Given the description of an element on the screen output the (x, y) to click on. 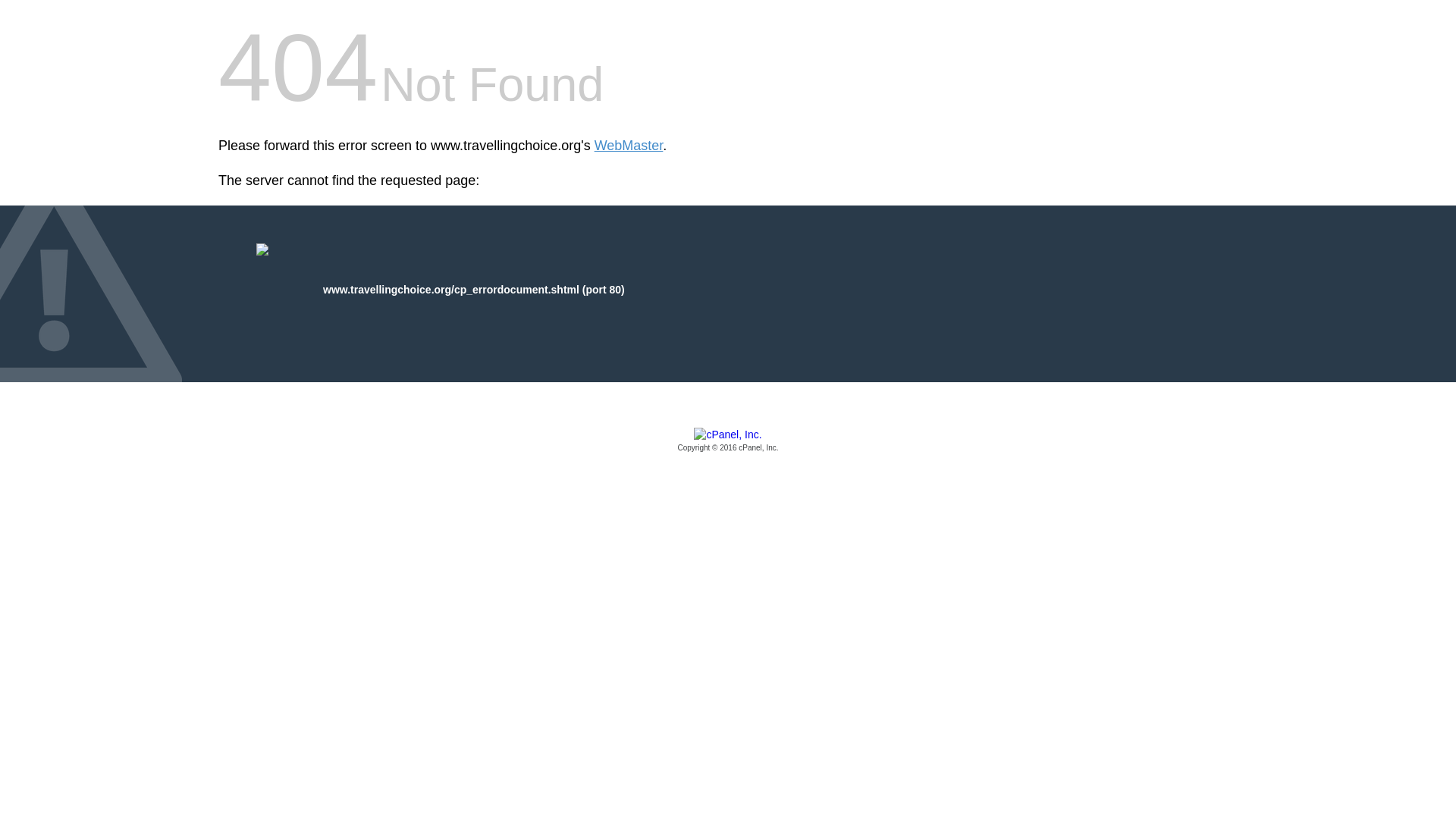
cPanel, Inc. (727, 440)
WebMaster (628, 145)
